Given the description of an element on the screen output the (x, y) to click on. 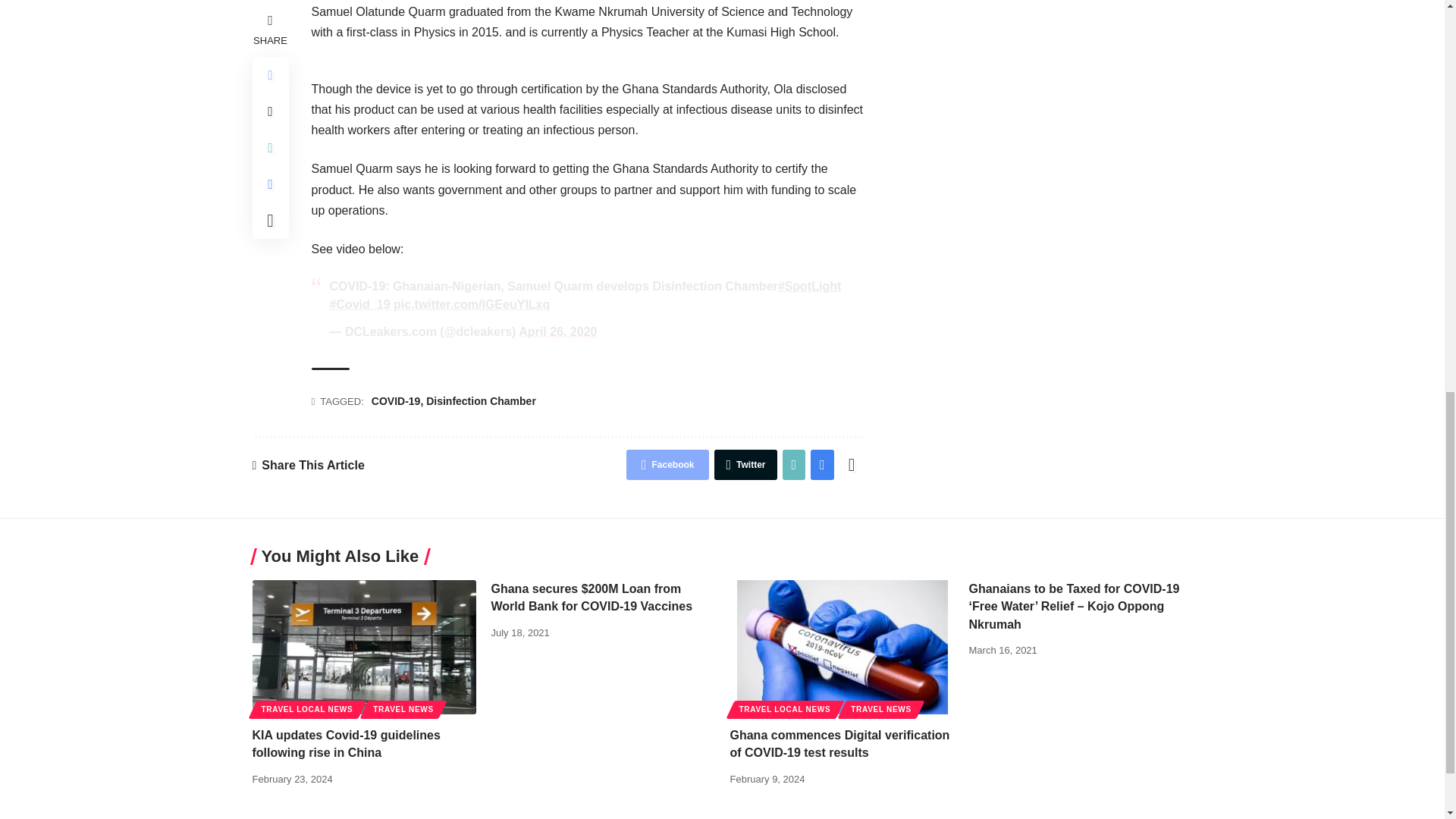
KIA updates Covid-19 guidelines following rise in China (363, 646)
